Given the description of an element on the screen output the (x, y) to click on. 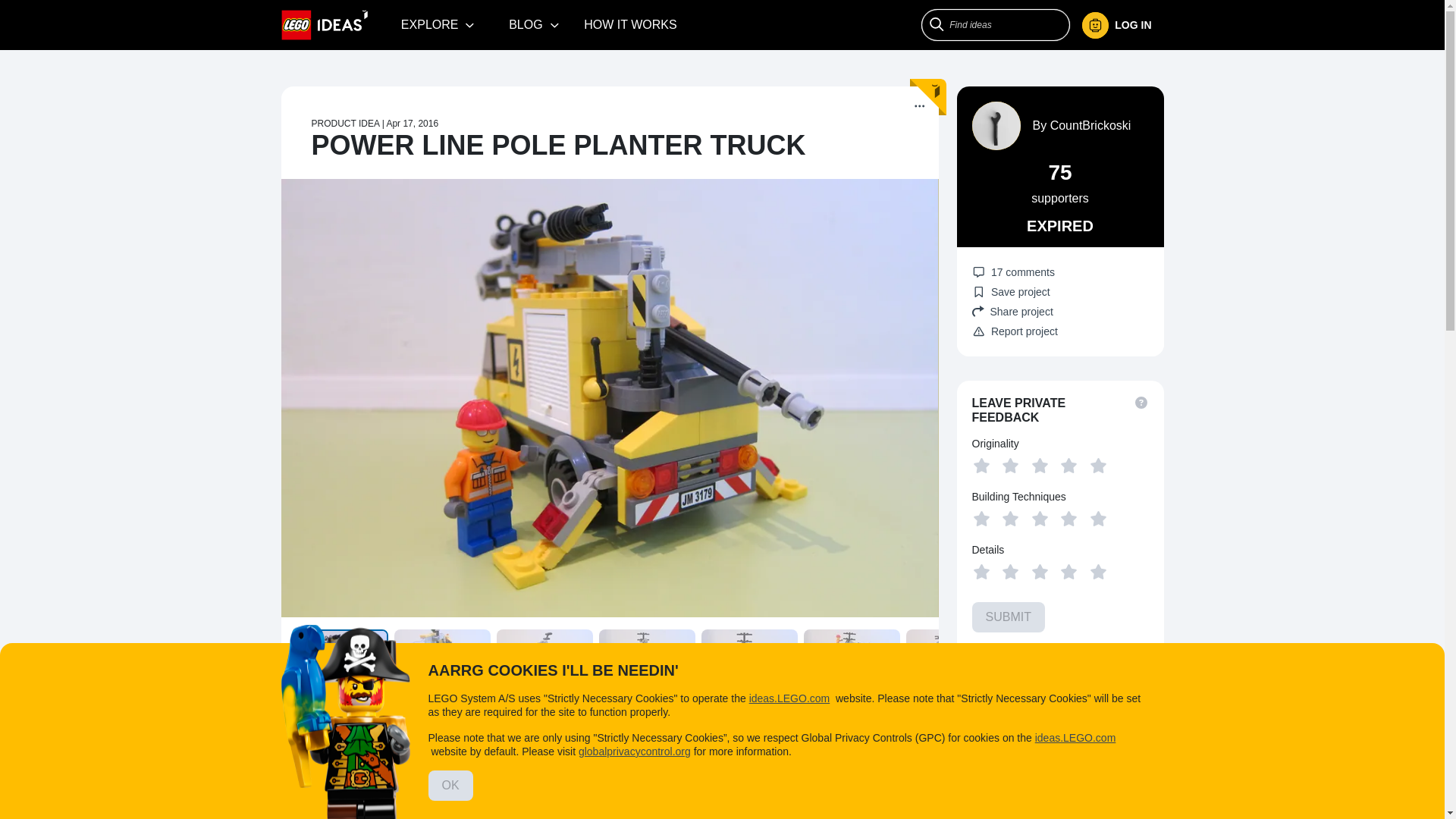
DESCRIPTION (331, 732)
STATISTICS (792, 731)
BLOG (534, 24)
LOG IN (1122, 25)
How It Works (630, 24)
OFFICIAL LEGO COMMENTS 2 (661, 731)
EXPLORE (437, 24)
2016-04-17T12:19:36Z (411, 122)
COMMENTS 17 (518, 731)
HOW IT WORKS (630, 24)
Me (1116, 25)
UPDATES 0 (422, 731)
